Given the description of an element on the screen output the (x, y) to click on. 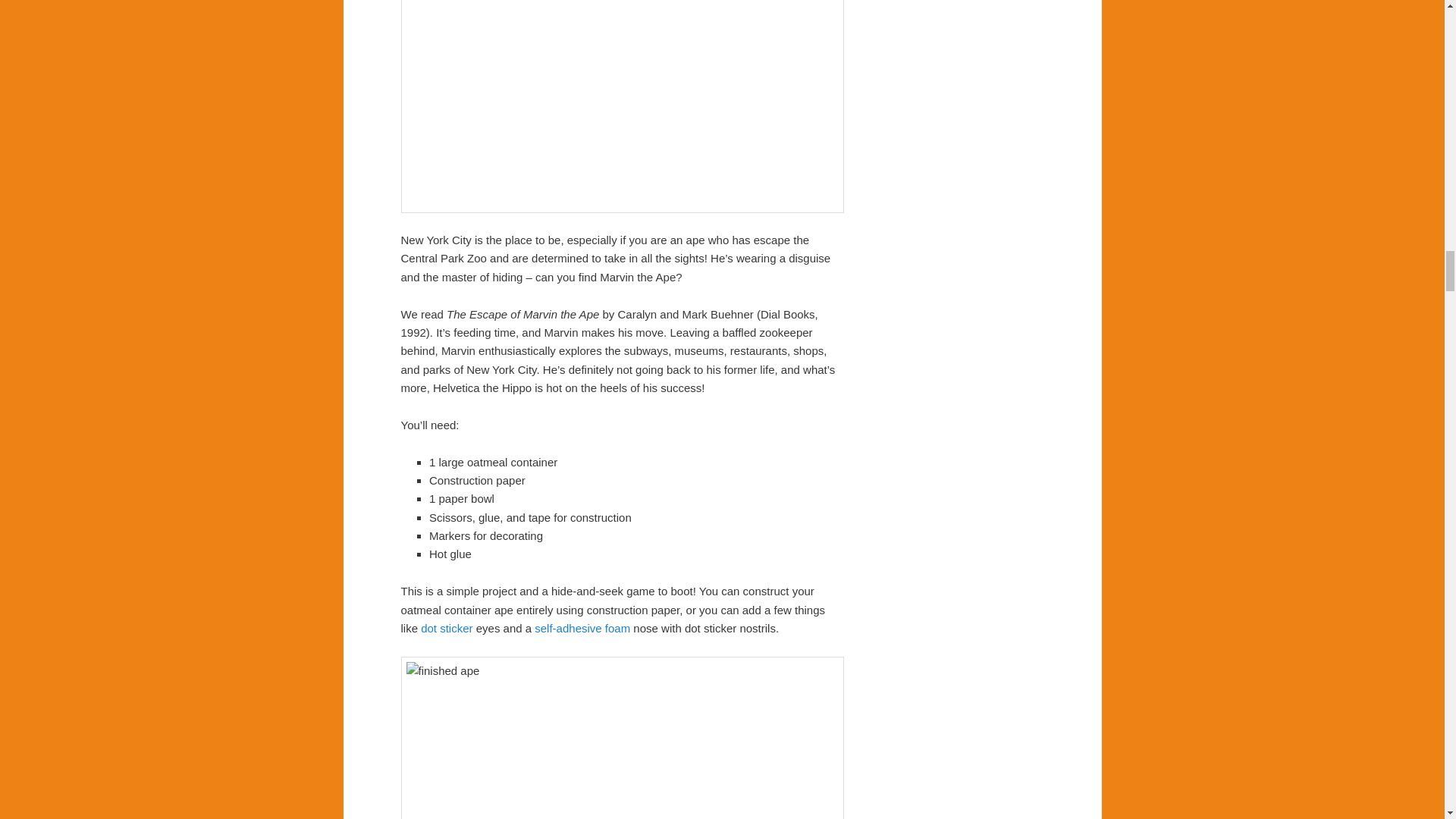
self-adhesive foam (582, 627)
dot sticker (445, 627)
